Given the description of an element on the screen output the (x, y) to click on. 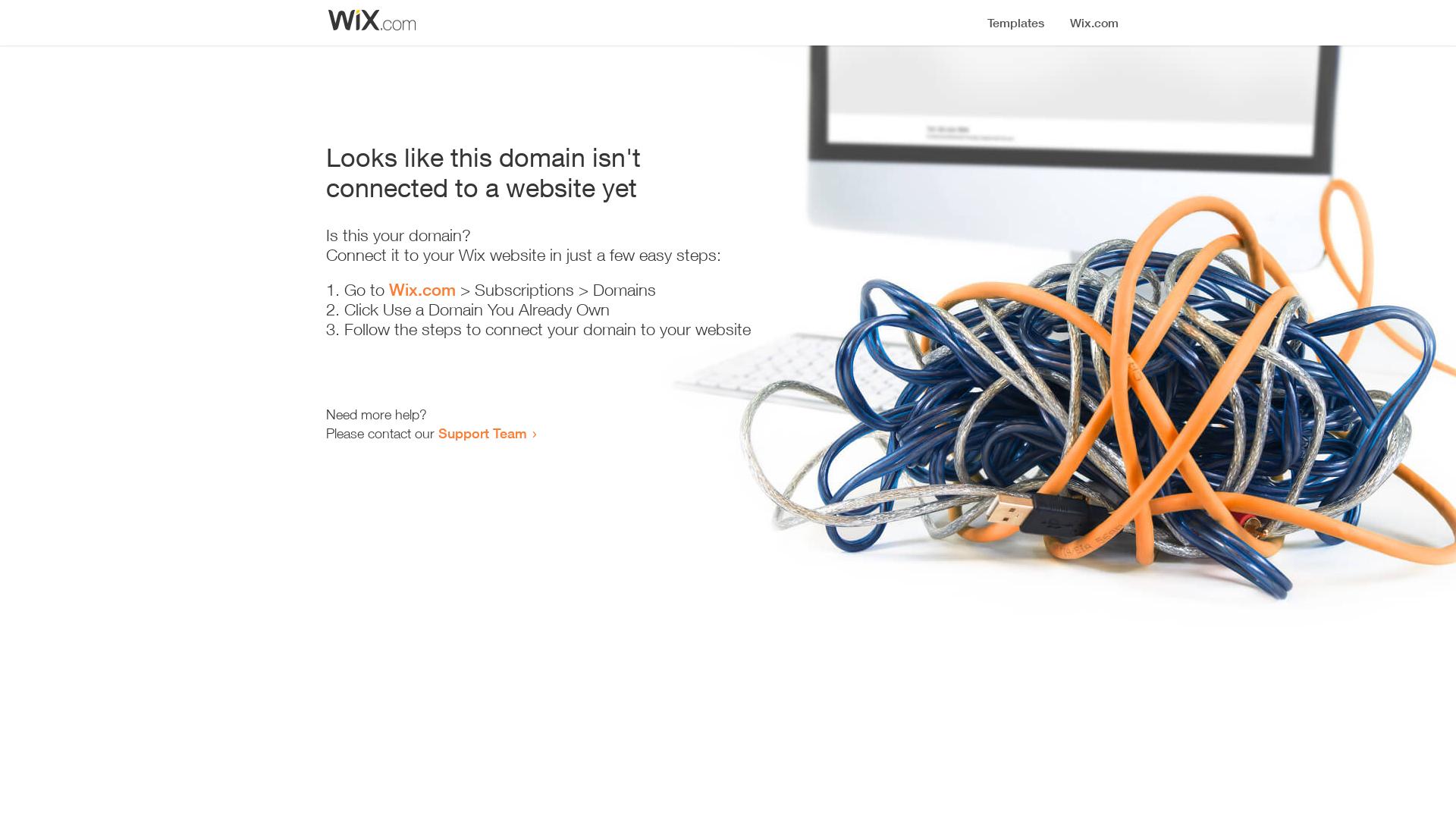
Wix.com Element type: text (422, 289)
Support Team Element type: text (482, 432)
